Given the description of an element on the screen output the (x, y) to click on. 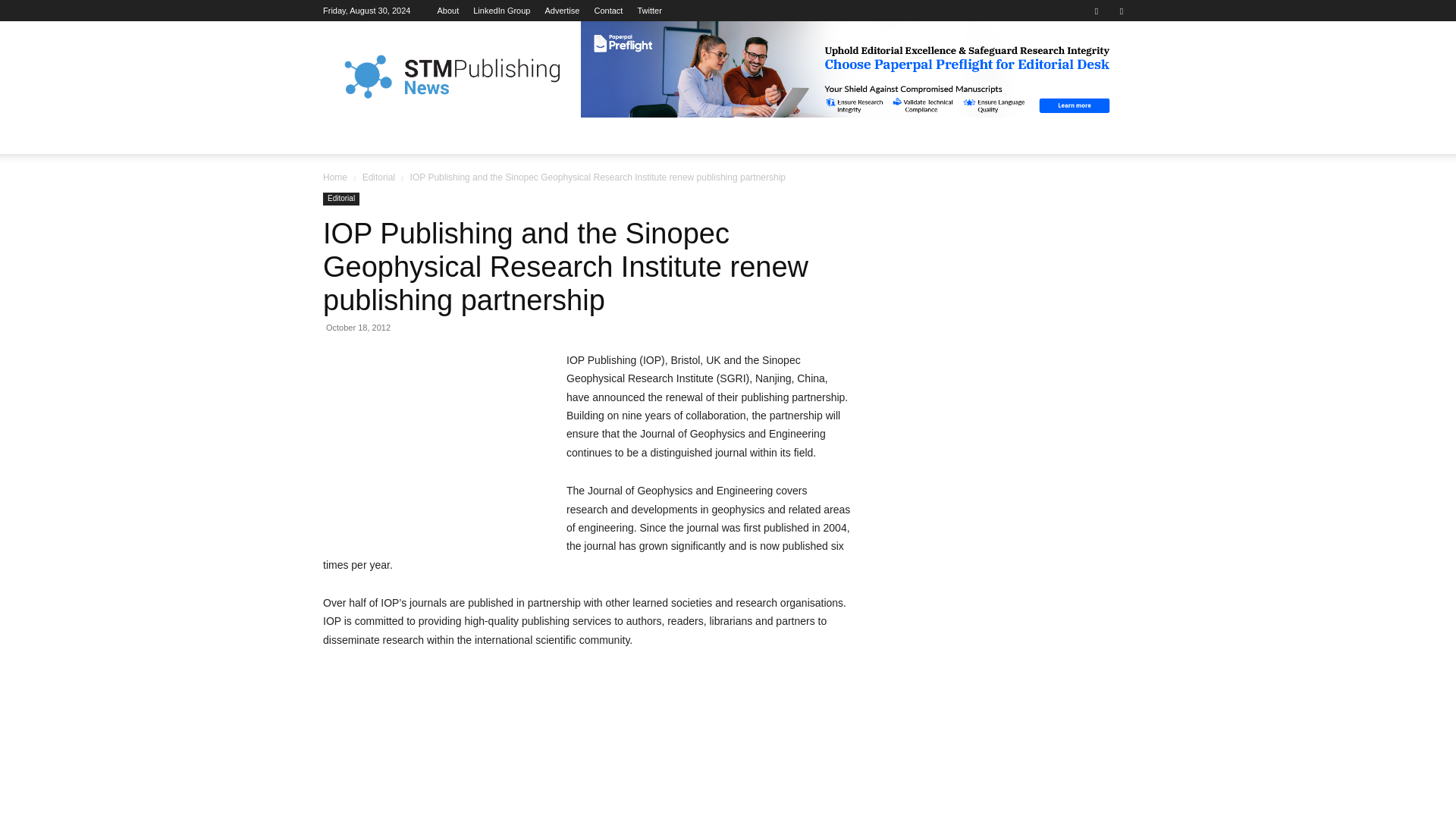
Linkedin (1096, 10)
Twitter (649, 10)
HOME (348, 135)
Twitter (1120, 10)
LinkedIn (501, 10)
Advertise (561, 10)
About (447, 10)
Contact (608, 10)
FEATURED (411, 135)
LinkedIn Group (501, 10)
